Given the description of an element on the screen output the (x, y) to click on. 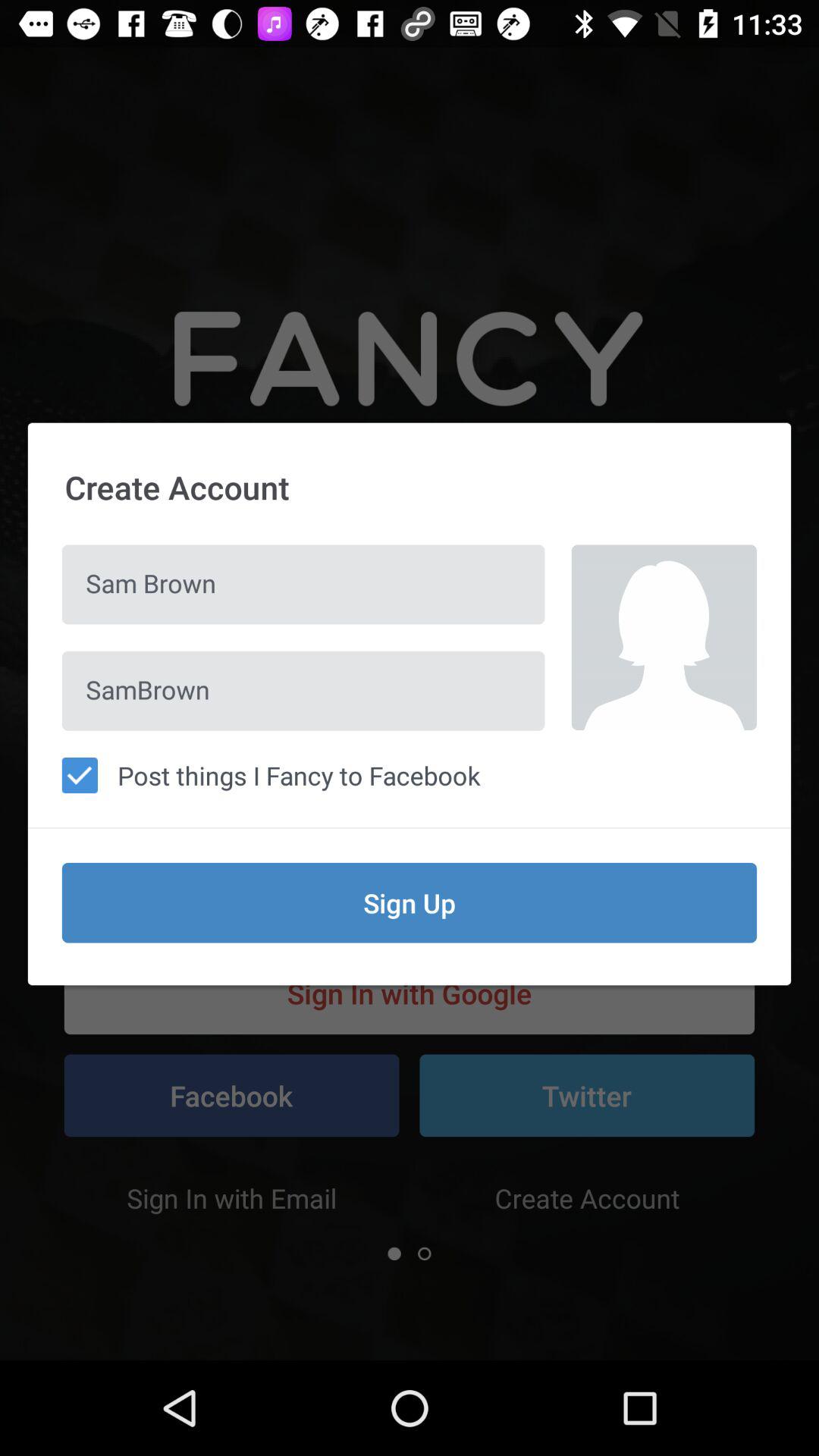
swipe until the post things i (409, 775)
